Given the description of an element on the screen output the (x, y) to click on. 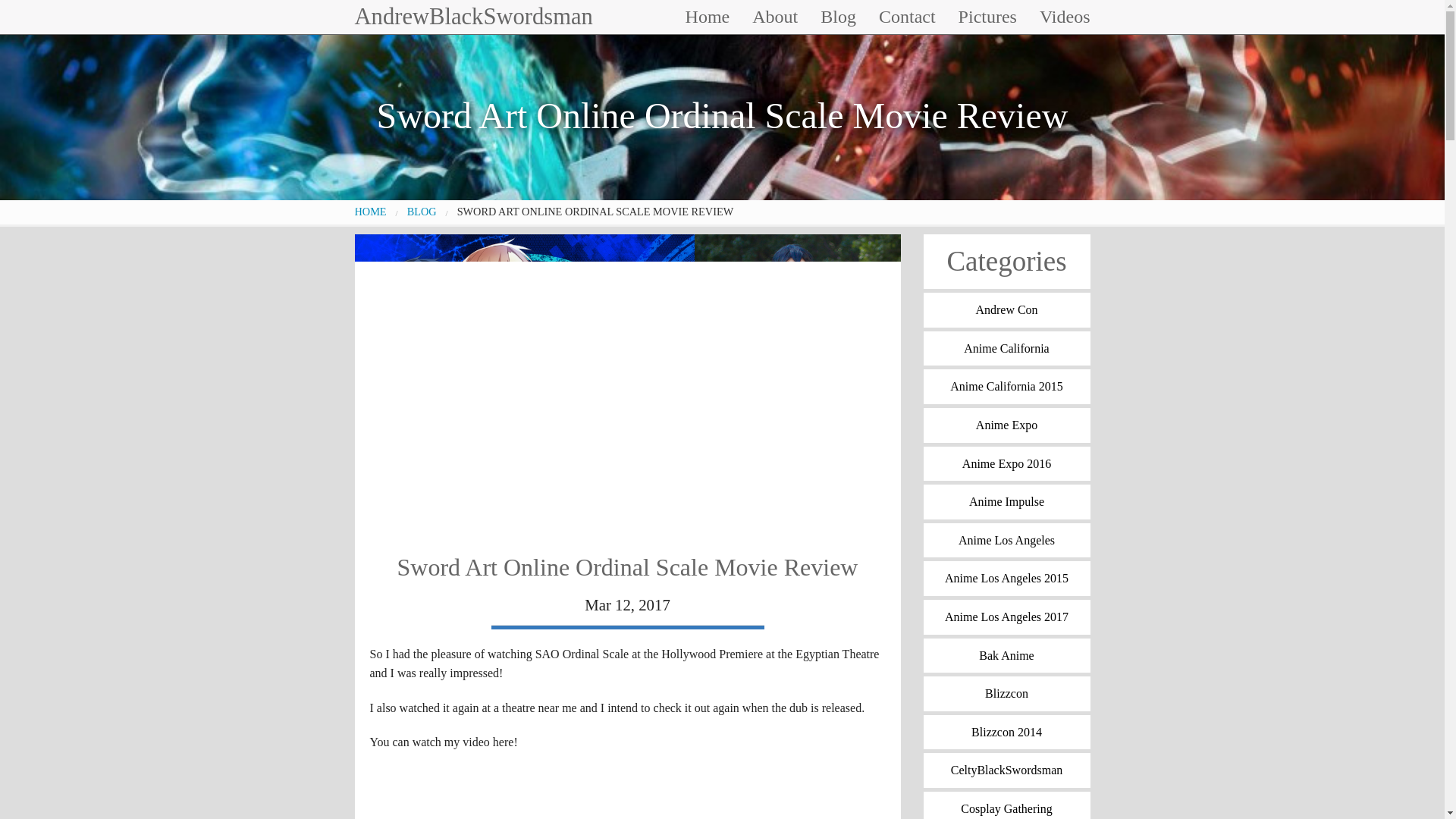
Anime California 2015 (1006, 386)
BLOG (421, 211)
CeltyBlackSwordsman (1006, 769)
Anime Impulse (1006, 501)
Anime Expo 2016 (1006, 463)
Anime Los Angeles 2015 (1006, 578)
SWORD ART ONLINE ORDINAL SCALE MOVIE REVIEW (595, 211)
Cosplay Gathering (1006, 805)
HOME (371, 211)
Pictures (987, 17)
